Given the description of an element on the screen output the (x, y) to click on. 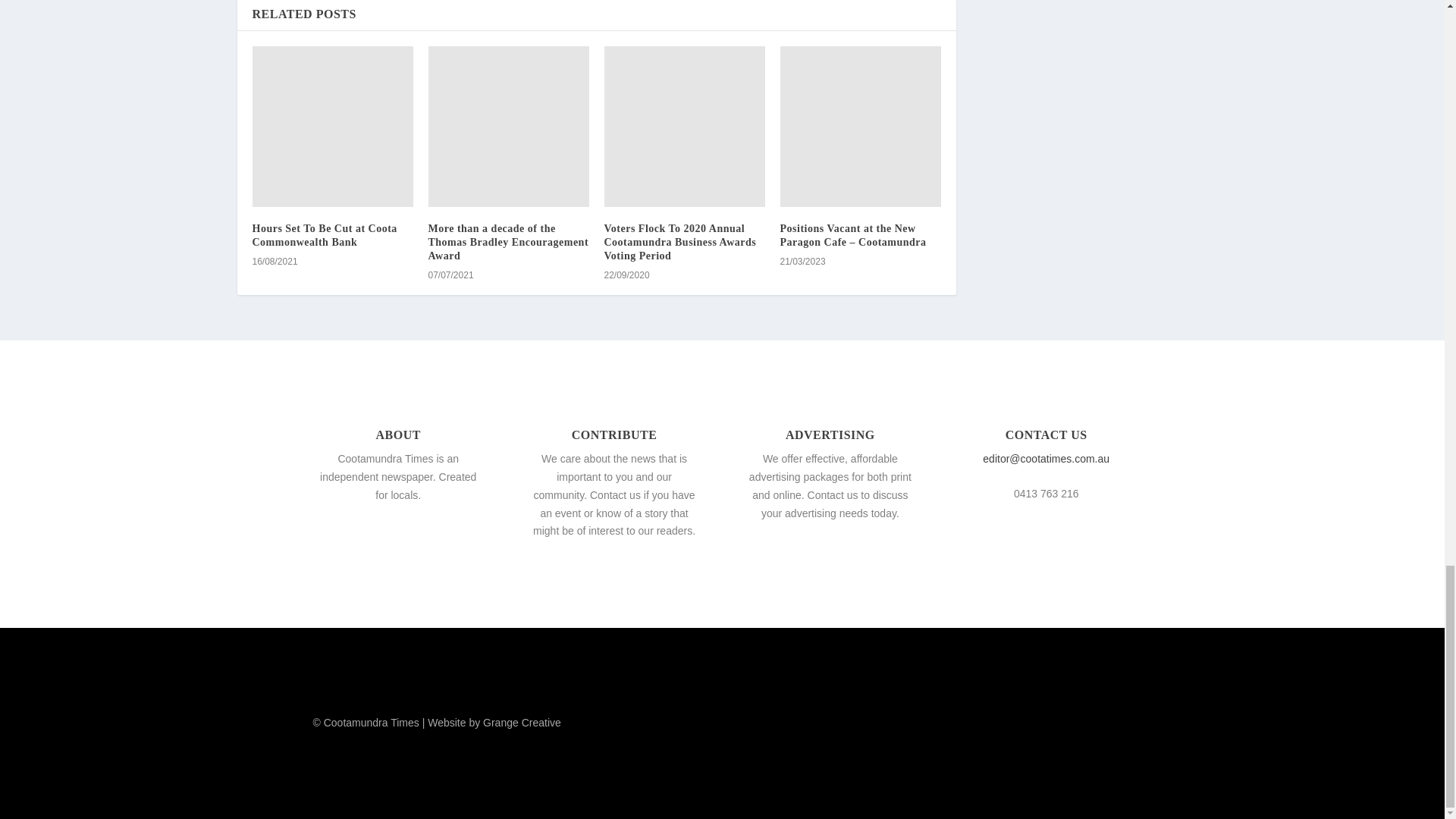
Hours Set To Be Cut at Coota Commonwealth Bank (323, 235)
More than a decade of the Thomas Bradley Encouragement Award (508, 241)
Hours Set To Be Cut at Coota Commonwealth Bank (331, 126)
